Given the description of an element on the screen output the (x, y) to click on. 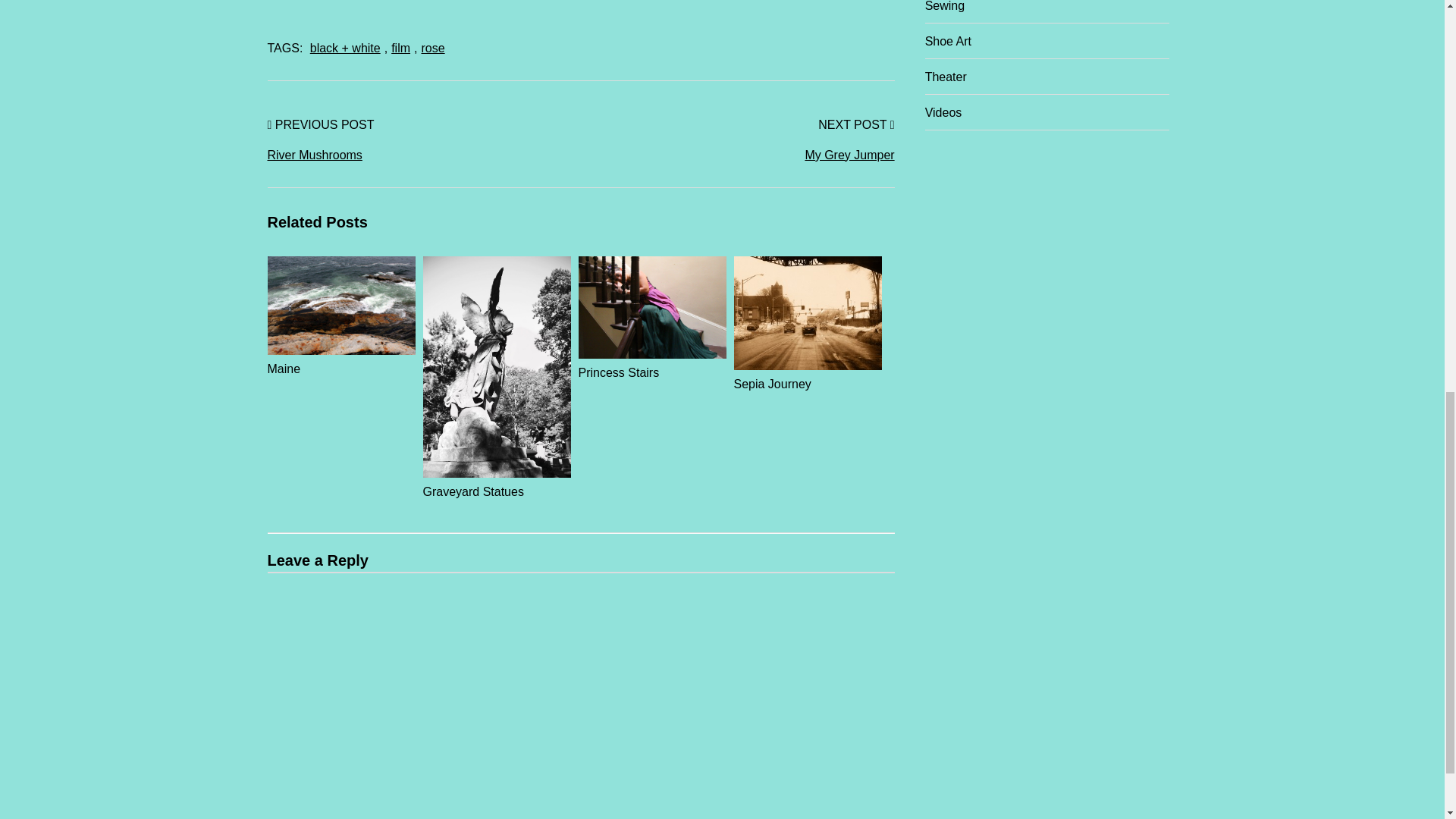
River Mushrooms (423, 155)
Maine (340, 359)
Graveyard Statues (496, 481)
My Grey Jumper (737, 155)
Princess Stairs (651, 363)
rose (433, 47)
Sepia Journey (807, 374)
Graveyard Statues (496, 481)
Princess Stairs (651, 363)
Maine (340, 359)
Sepia Journey (807, 374)
film (400, 47)
